Given the description of an element on the screen output the (x, y) to click on. 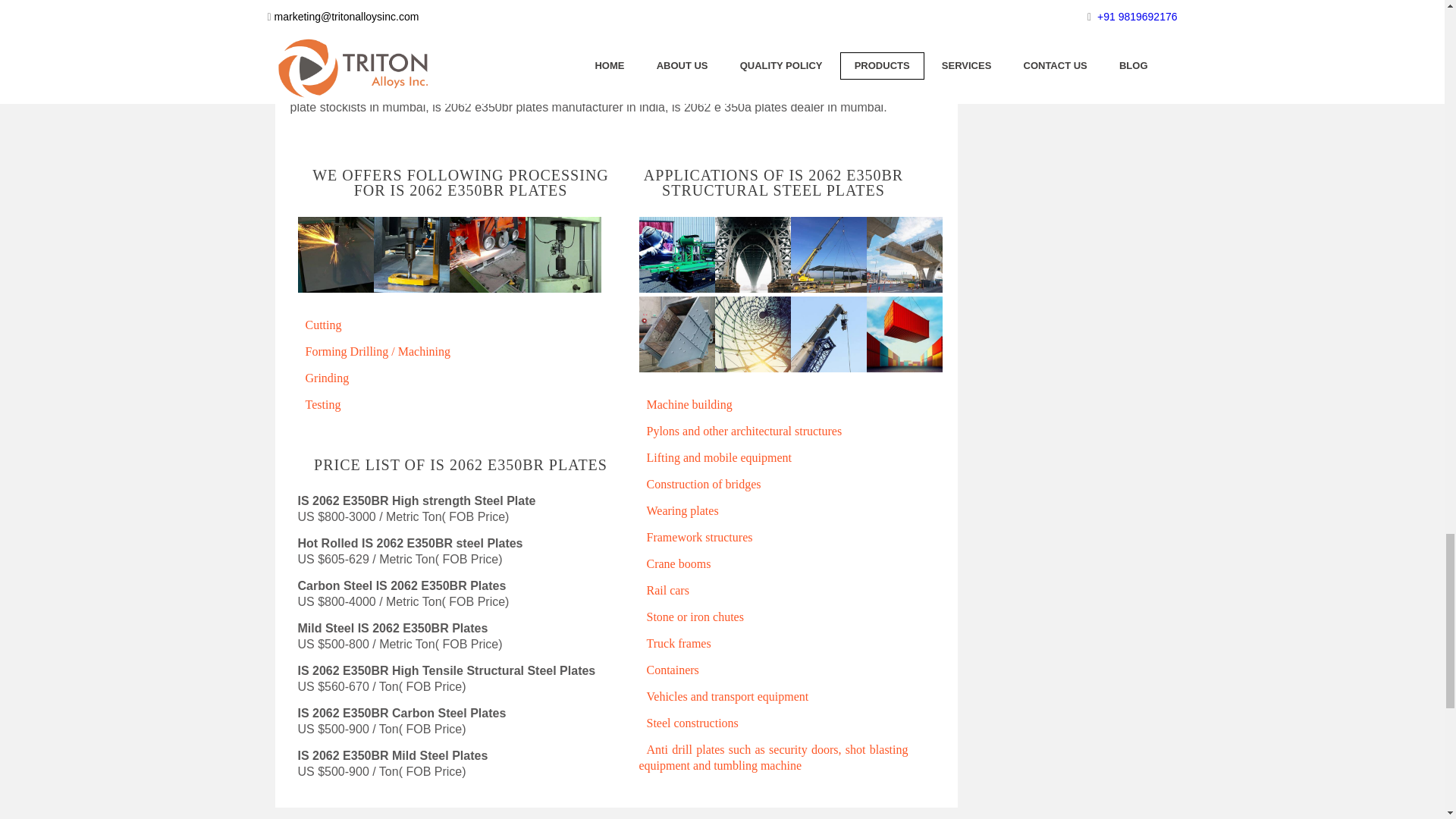
IS 2062 E350BR Plate Grinding (486, 258)
IS 2062 E350BR Plate Testing (561, 258)
IS 2062 E350BR Plate Cutting (334, 258)
